Given the description of an element on the screen output the (x, y) to click on. 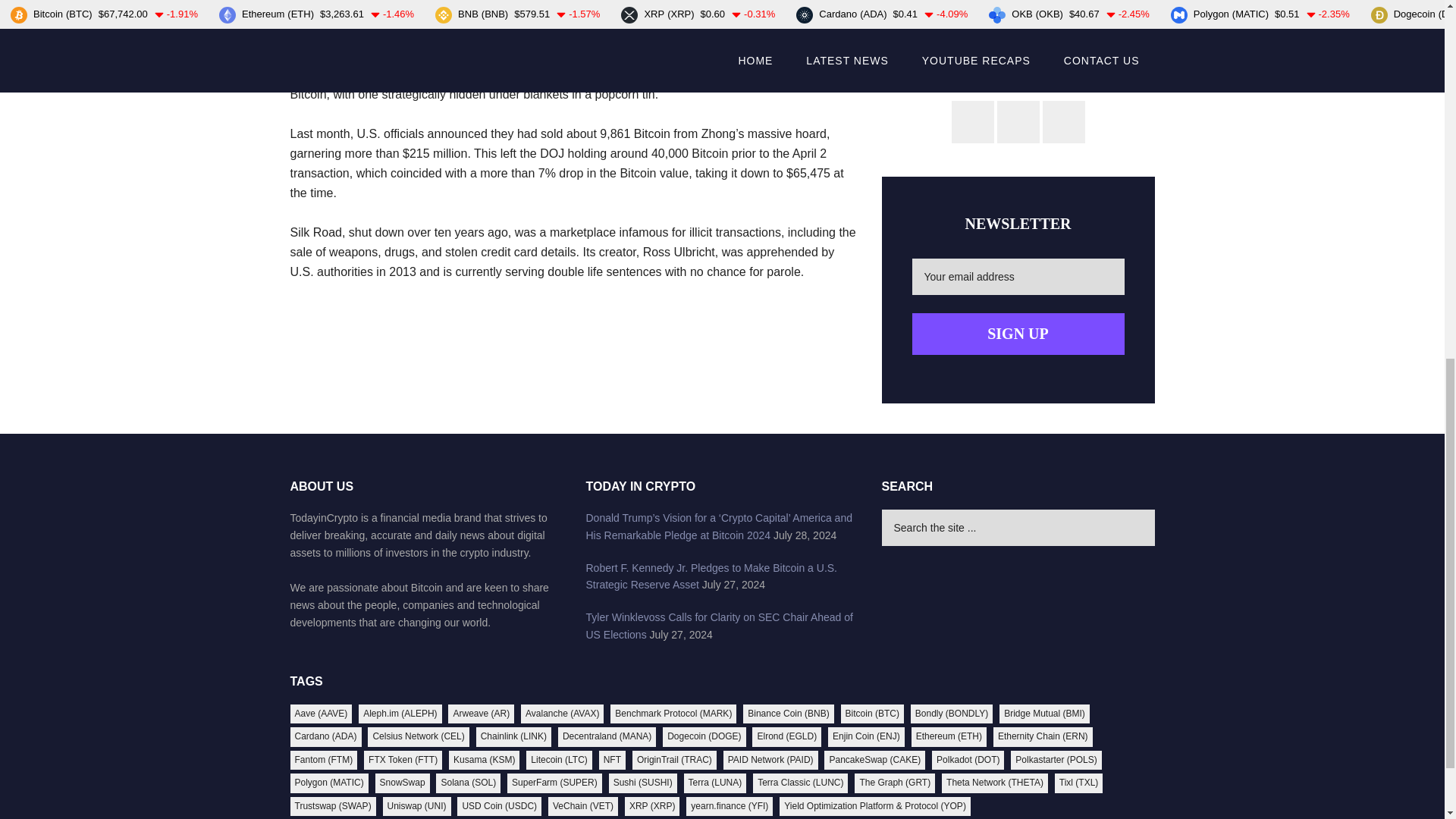
Sign up (1017, 333)
Sign up (1017, 333)
